Given the description of an element on the screen output the (x, y) to click on. 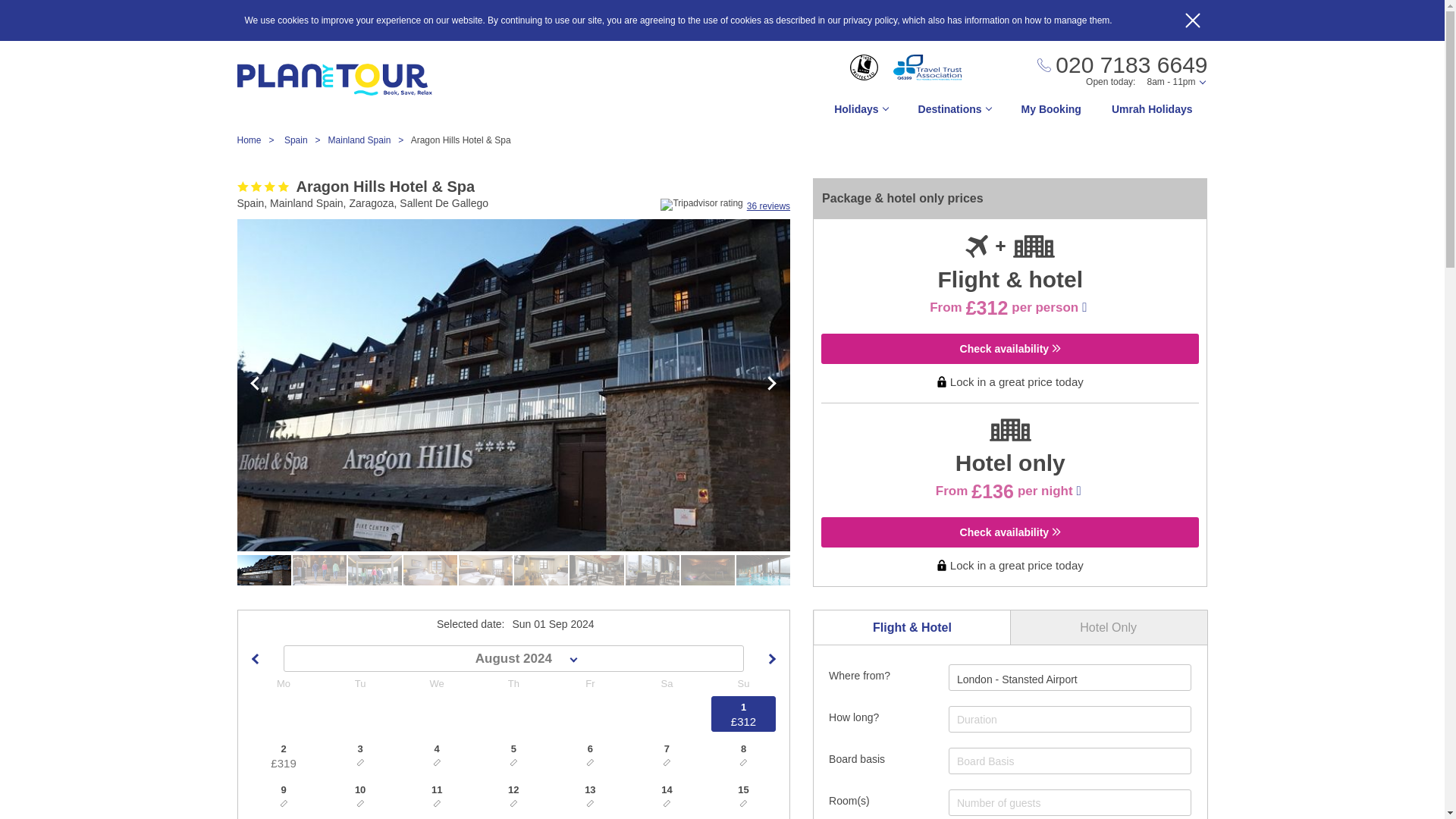
London - Stansted Airport (1016, 679)
020 7183 6649 (1121, 65)
Holidays (860, 112)
Destinations (954, 112)
